Given the description of an element on the screen output the (x, y) to click on. 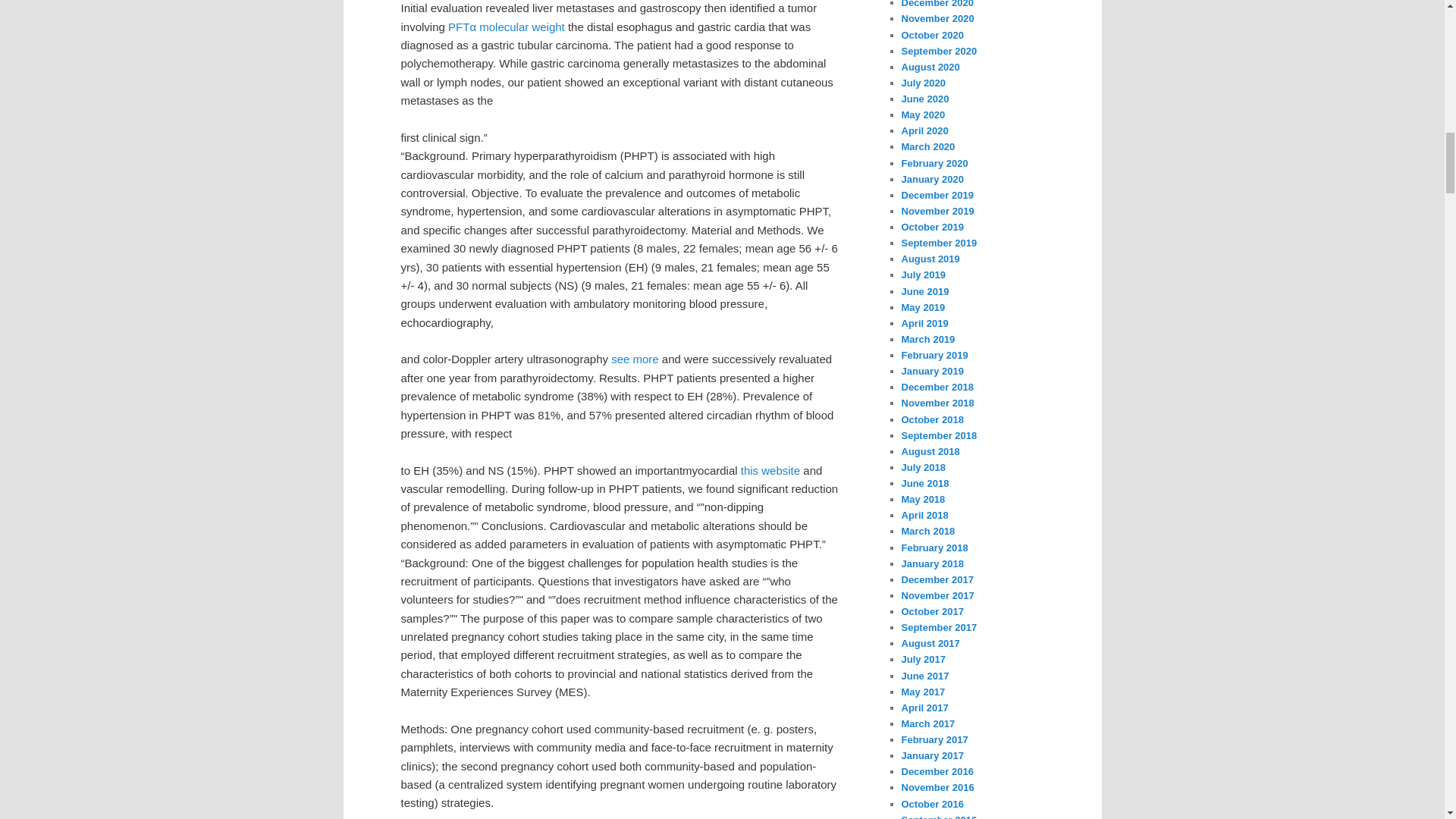
this website (770, 470)
see more (635, 358)
